Given the description of an element on the screen output the (x, y) to click on. 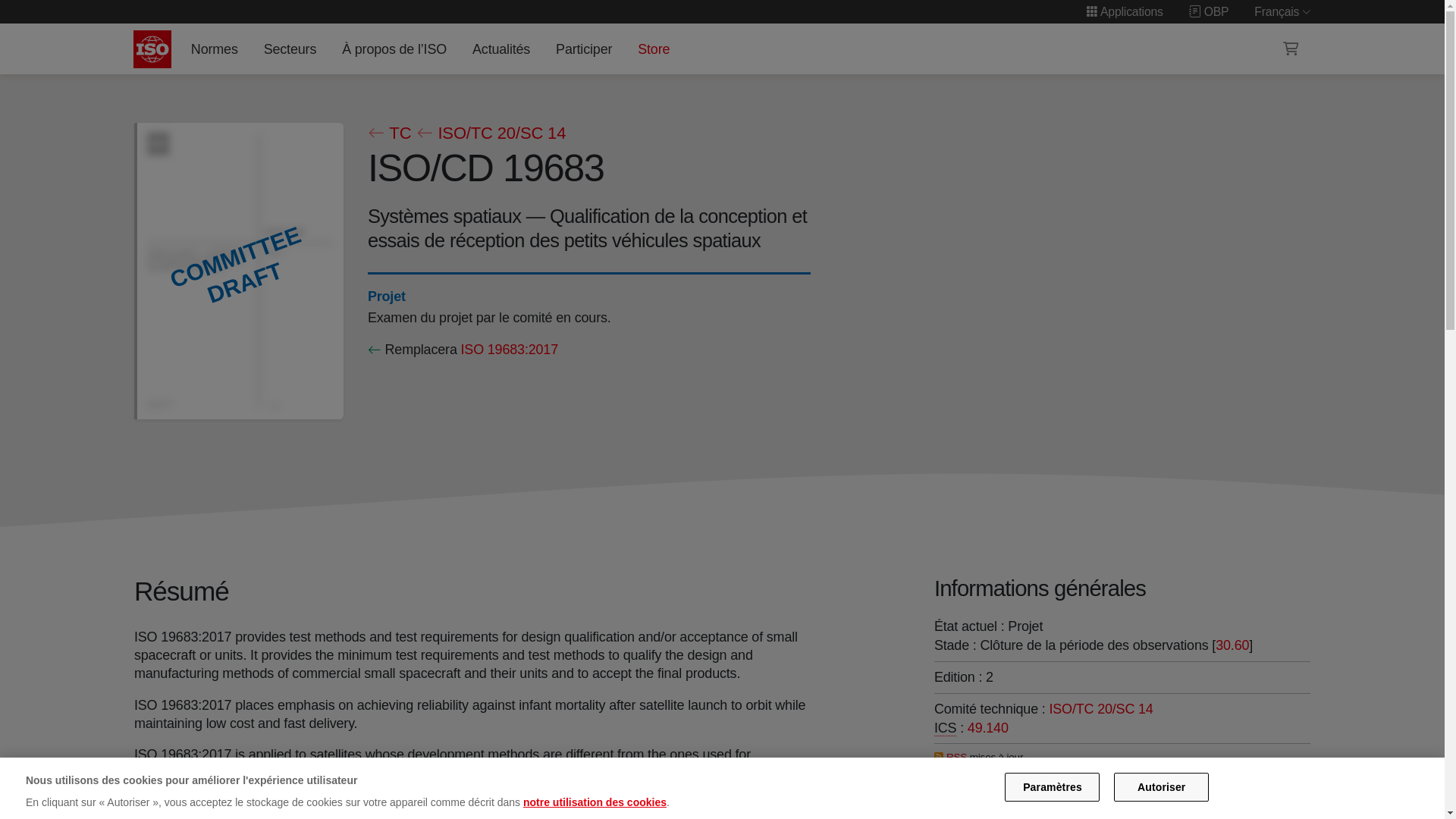
Plateforme de consultation en ligne (1208, 11)
Secteurs (290, 48)
Panier d'achat (1290, 49)
Participer (584, 48)
Store (654, 48)
Cycle de vie (385, 296)
30.60 (1232, 645)
Organisation internationale de normalisation (152, 48)
ISO 19683:2017 (508, 349)
TC (388, 133)
49.140 (988, 727)
Portail des applications de l'ISO (1124, 11)
30.60 (1232, 645)
Normes (214, 48)
Projet (385, 296)
